Given the description of an element on the screen output the (x, y) to click on. 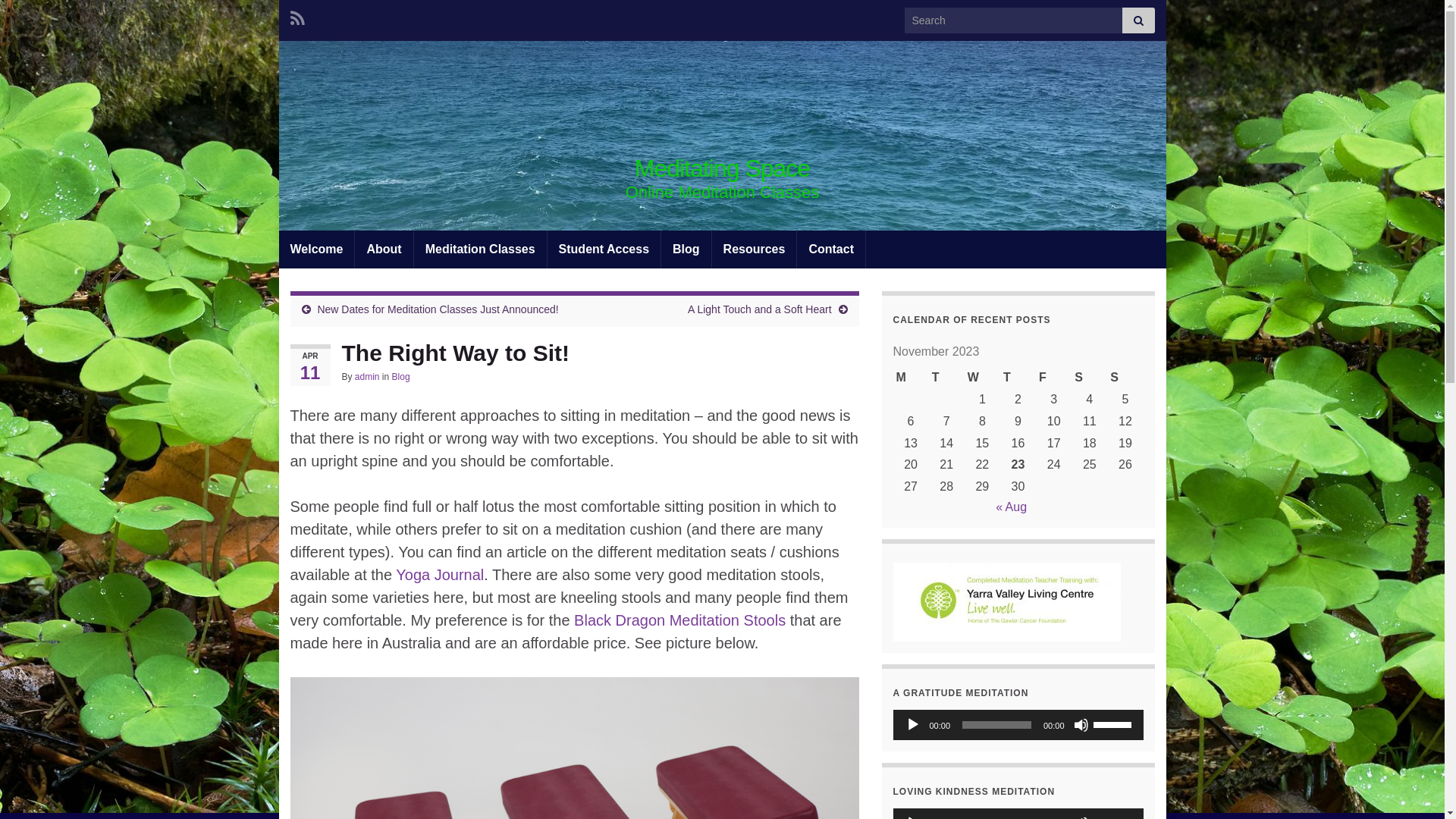
Use Up/Down Arrow keys to increase or decrease volume. Element type: text (1114, 723)
A Light Touch and a Soft Heart Element type: text (759, 309)
cropped-IMG_4625-scaled-1.jpeg Element type: hover (722, 135)
Blog Element type: text (401, 376)
Contact Element type: text (831, 249)
Resources Element type: text (754, 249)
Welcome Element type: text (316, 249)
Yoga Journal Element type: text (439, 574)
Meditation Classes Element type: text (480, 249)
Subscribe to Meditating Space's RSS feed Element type: hover (296, 16)
admin Element type: text (366, 376)
Student Access Element type: text (603, 249)
New Dates for Meditation Classes Just Announced! Element type: text (437, 309)
Black Dragon Meditation Stools Element type: text (679, 619)
About Element type: text (383, 249)
Play Element type: hover (912, 724)
Blog Element type: text (686, 249)
Meditating Space Element type: text (721, 168)
Mute Element type: hover (1080, 724)
